Given the description of an element on the screen output the (x, y) to click on. 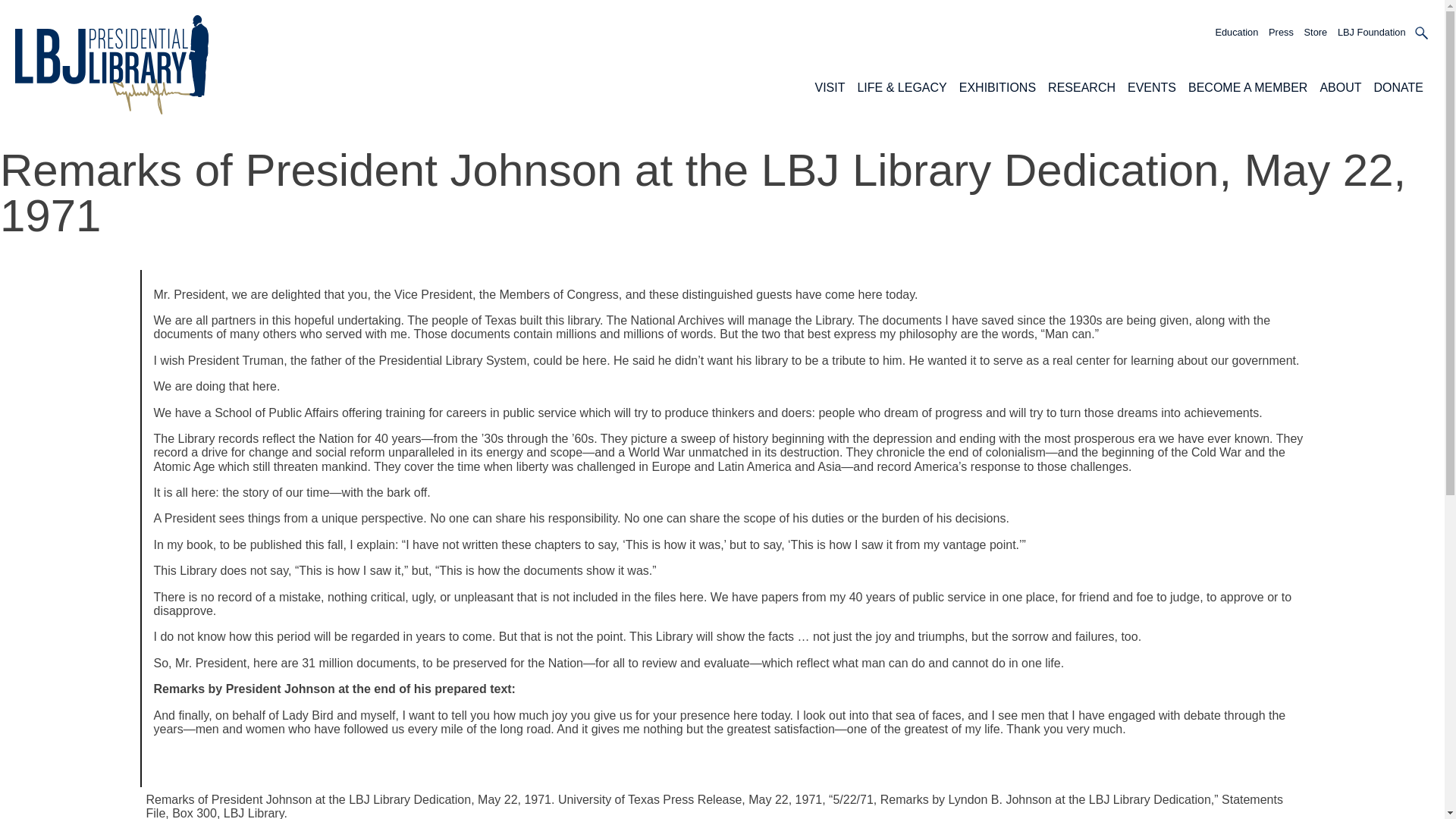
EXHIBITIONS (997, 87)
VISIT (828, 87)
RESEARCH (1081, 87)
BECOME A MEMBER (1247, 87)
EVENTS (1151, 87)
Exhibitions (997, 87)
Visit the Library (828, 87)
